Given the description of an element on the screen output the (x, y) to click on. 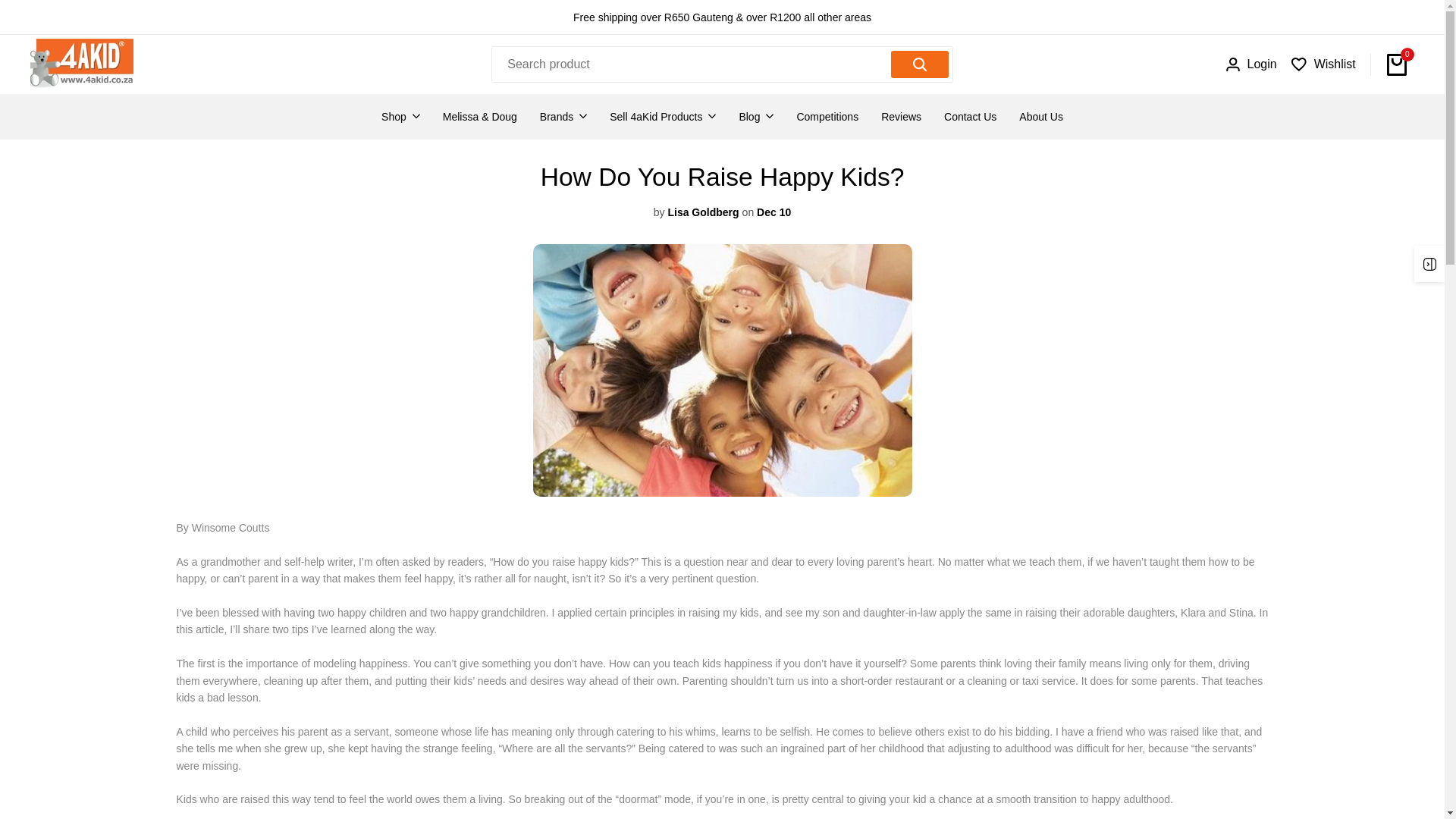
Wishlist (1323, 64)
0 (1396, 64)
Login (1250, 64)
